Given the description of an element on the screen output the (x, y) to click on. 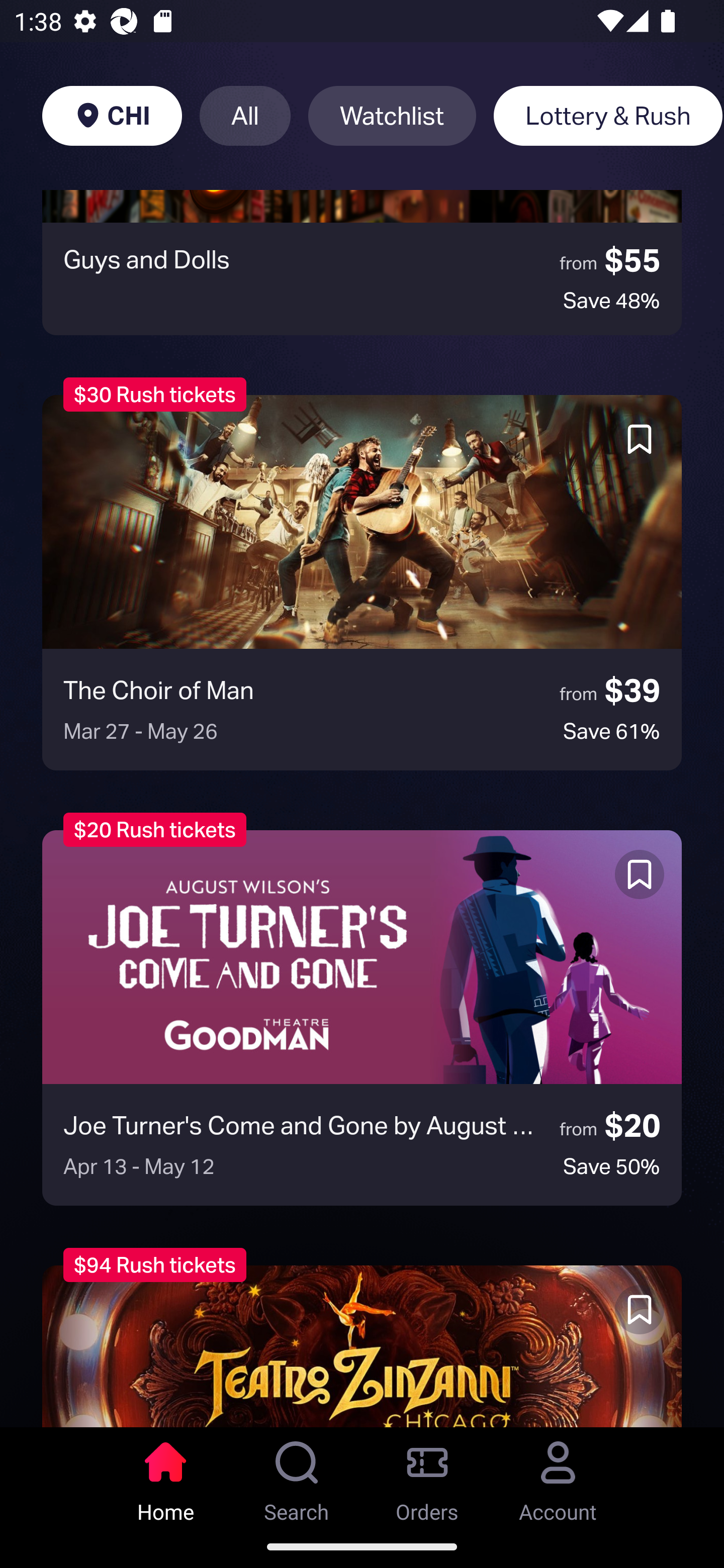
CHI (111, 115)
All (244, 115)
Watchlist (392, 115)
Lottery & Rush (607, 115)
Guys and Dolls from $55 Save 48% (361, 262)
The Choir of Man from $39 Mar 27 - May 26 Save 61% (361, 582)
Search (296, 1475)
Orders (427, 1475)
Account (558, 1475)
